Given the description of an element on the screen output the (x, y) to click on. 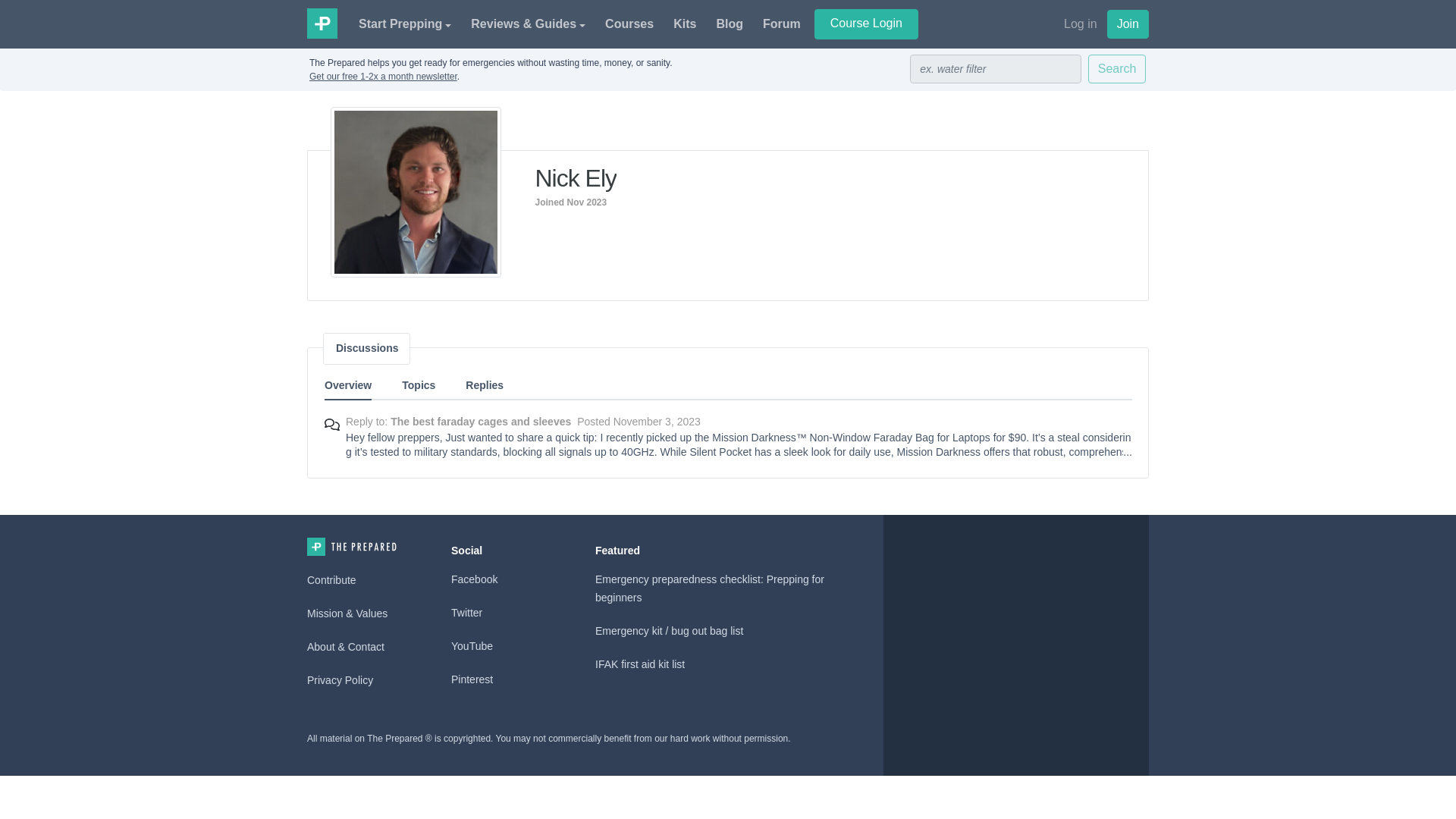
Log in (1084, 23)
Start Prepping (404, 24)
Overview (347, 386)
Forum (781, 24)
The Prepared (322, 22)
Courses (628, 24)
Join (1127, 23)
Topics (418, 385)
Replies (484, 385)
Course Login (866, 23)
